Given the description of an element on the screen output the (x, y) to click on. 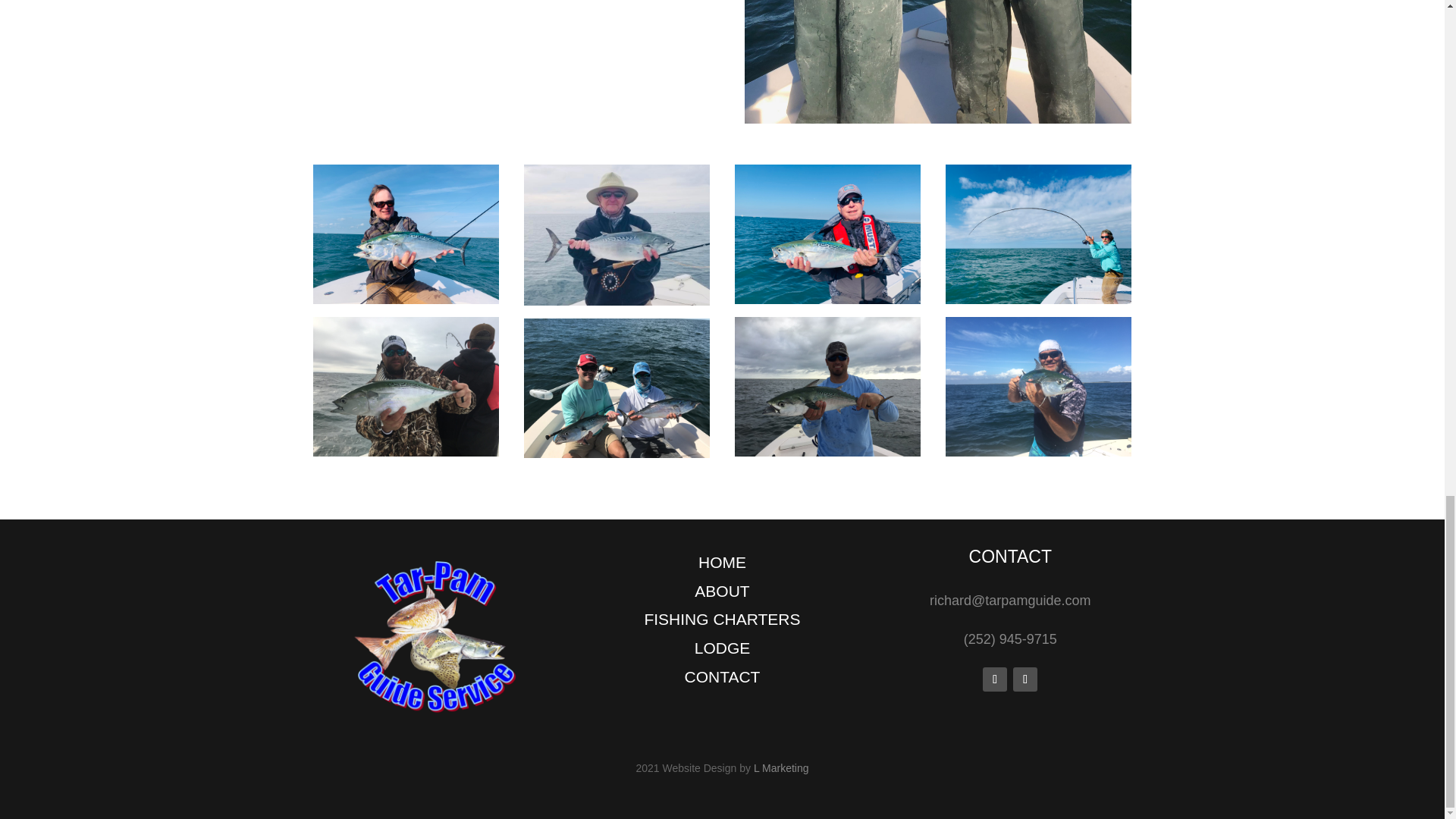
B80B1D94-265F-4C04-90E1-BEE6FF49CB3C (937, 61)
D64642CA-DAC9-403B-AC46-34869392BCB7 (406, 386)
A5538FE6-479C-4A6F-9D65-6A1FC2067136 (617, 387)
